Given the description of an element on the screen output the (x, y) to click on. 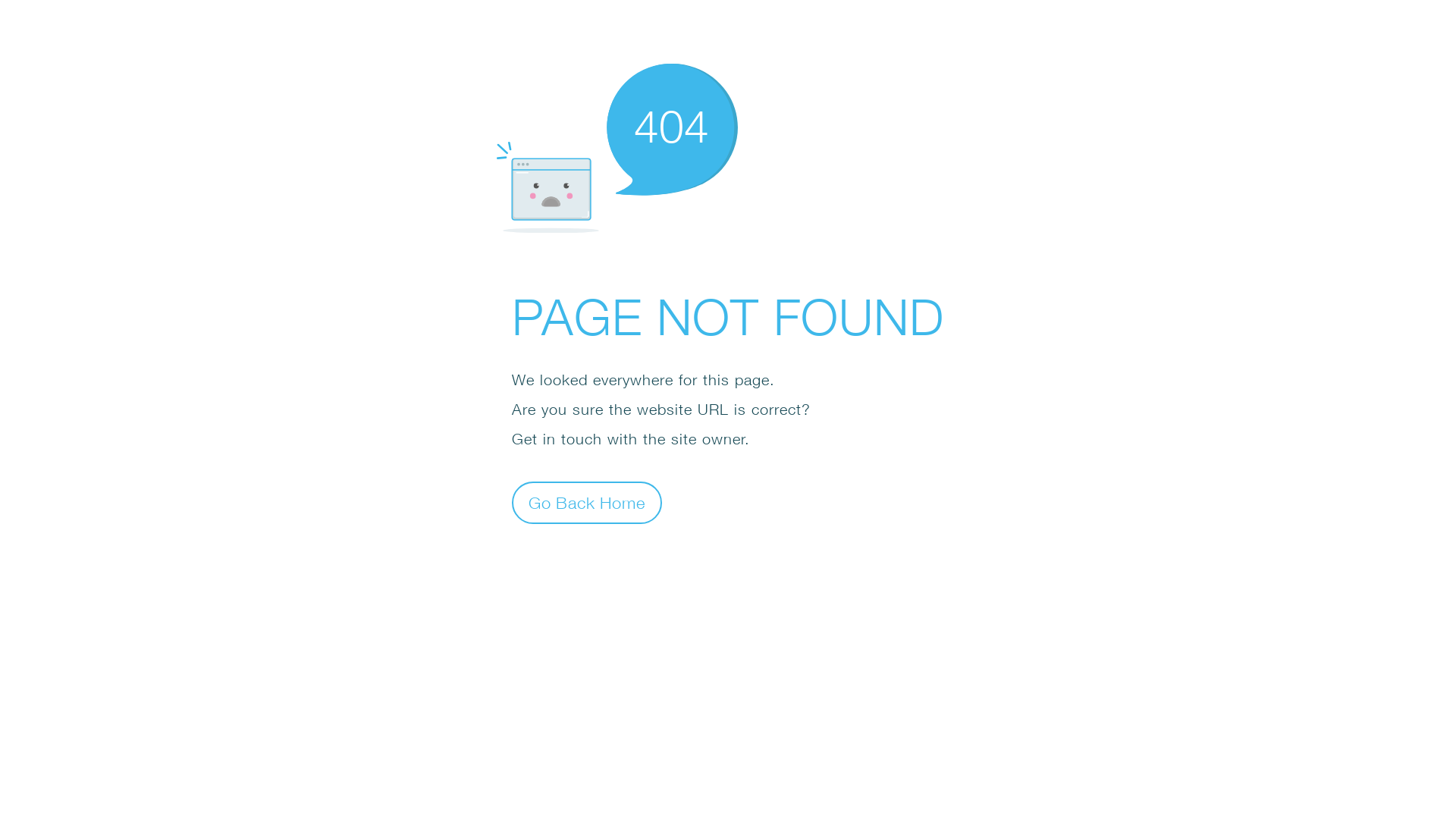
Go Back Home Element type: text (586, 502)
